Given the description of an element on the screen output the (x, y) to click on. 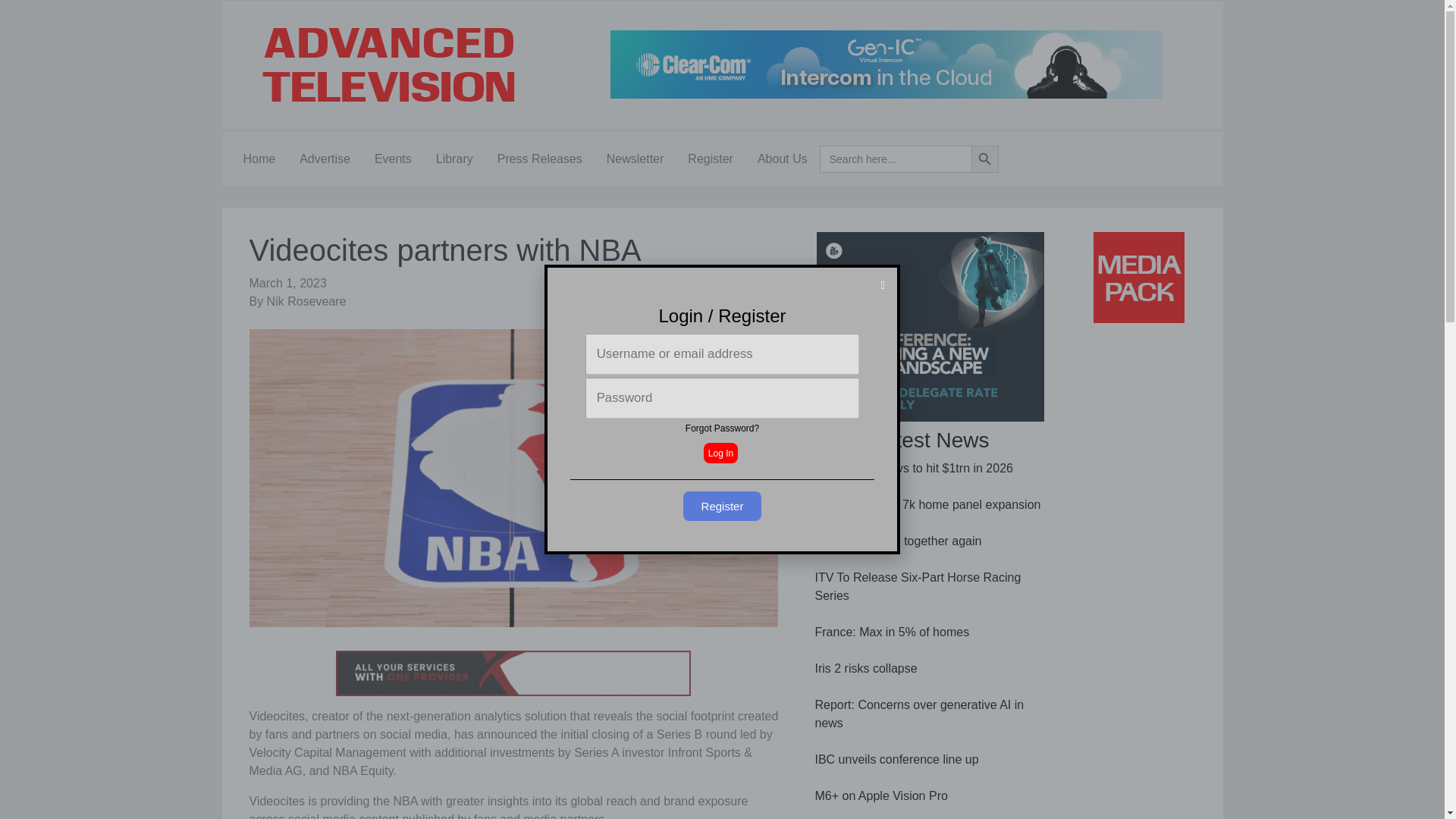
Iris 2 risks collapse (865, 667)
Newsletter (635, 158)
Advertise (324, 158)
Report: Concerns over generative AI in news (918, 713)
Search Button (984, 158)
Library (453, 158)
About Us (782, 158)
Register (710, 158)
Press Releases (539, 158)
Trump-Murdoch together again (897, 540)
Barb completes 7k home panel expansion (927, 504)
Events (392, 158)
Home (258, 158)
ITV To Release Six-Part Horse Racing Series (916, 585)
Log In (720, 453)
